Given the description of an element on the screen output the (x, y) to click on. 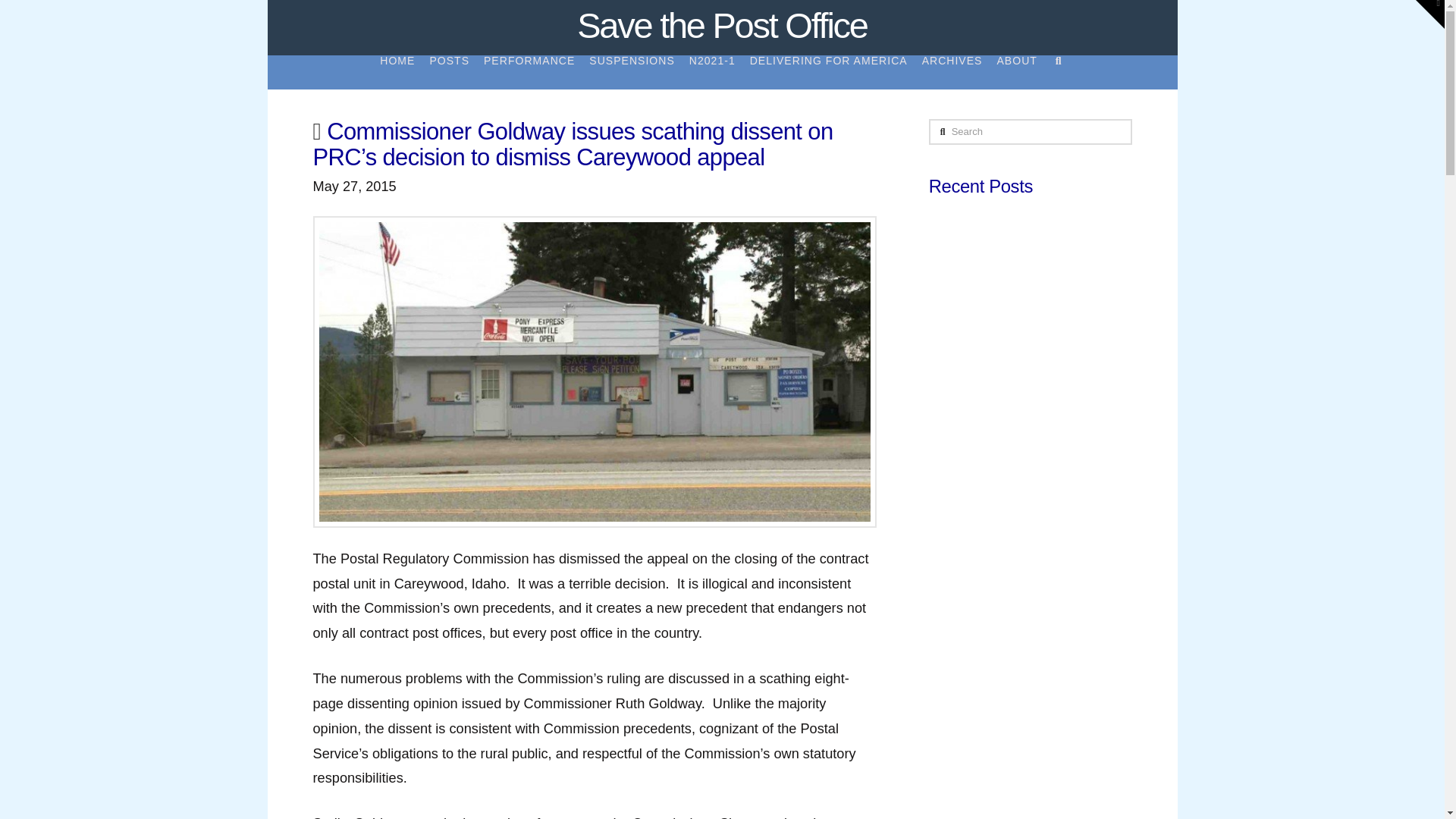
ABOUT (1015, 72)
DELIVERING FOR AMERICA (828, 72)
SUSPENSIONS (630, 72)
HOME (397, 72)
Save the Post Office (721, 25)
N2021-1 (711, 72)
PERFORMANCE (528, 72)
ARCHIVES (952, 72)
POSTS (449, 72)
